Given the description of an element on the screen output the (x, y) to click on. 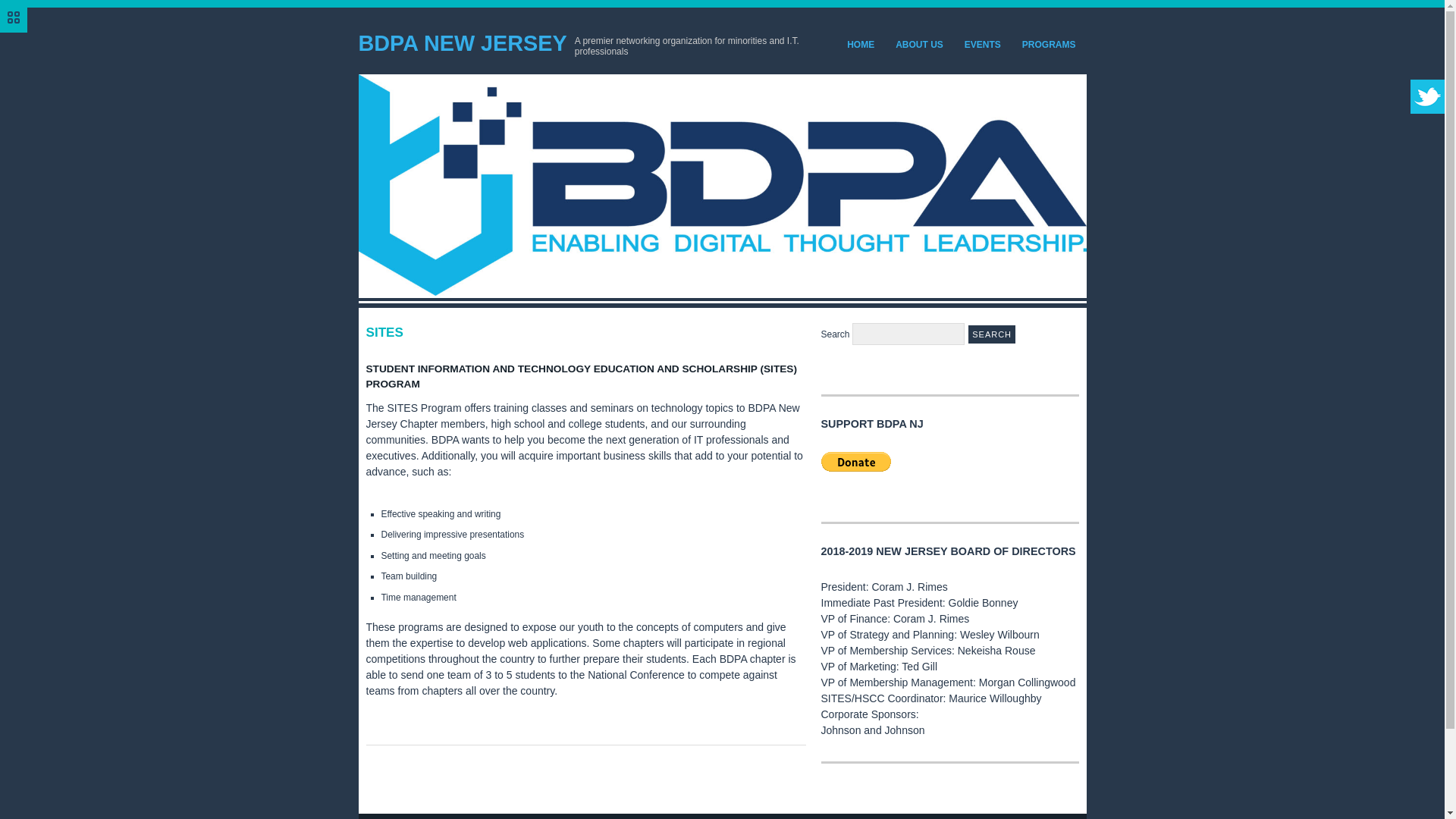
HOME (860, 44)
PROGRAMS (1048, 44)
Events (982, 44)
BDPA NEW JERSEY (462, 43)
Search (991, 334)
Search (991, 334)
ABOUT US (919, 44)
Search (991, 334)
EVENTS (982, 44)
BDPA New Jersey (462, 43)
